Given the description of an element on the screen output the (x, y) to click on. 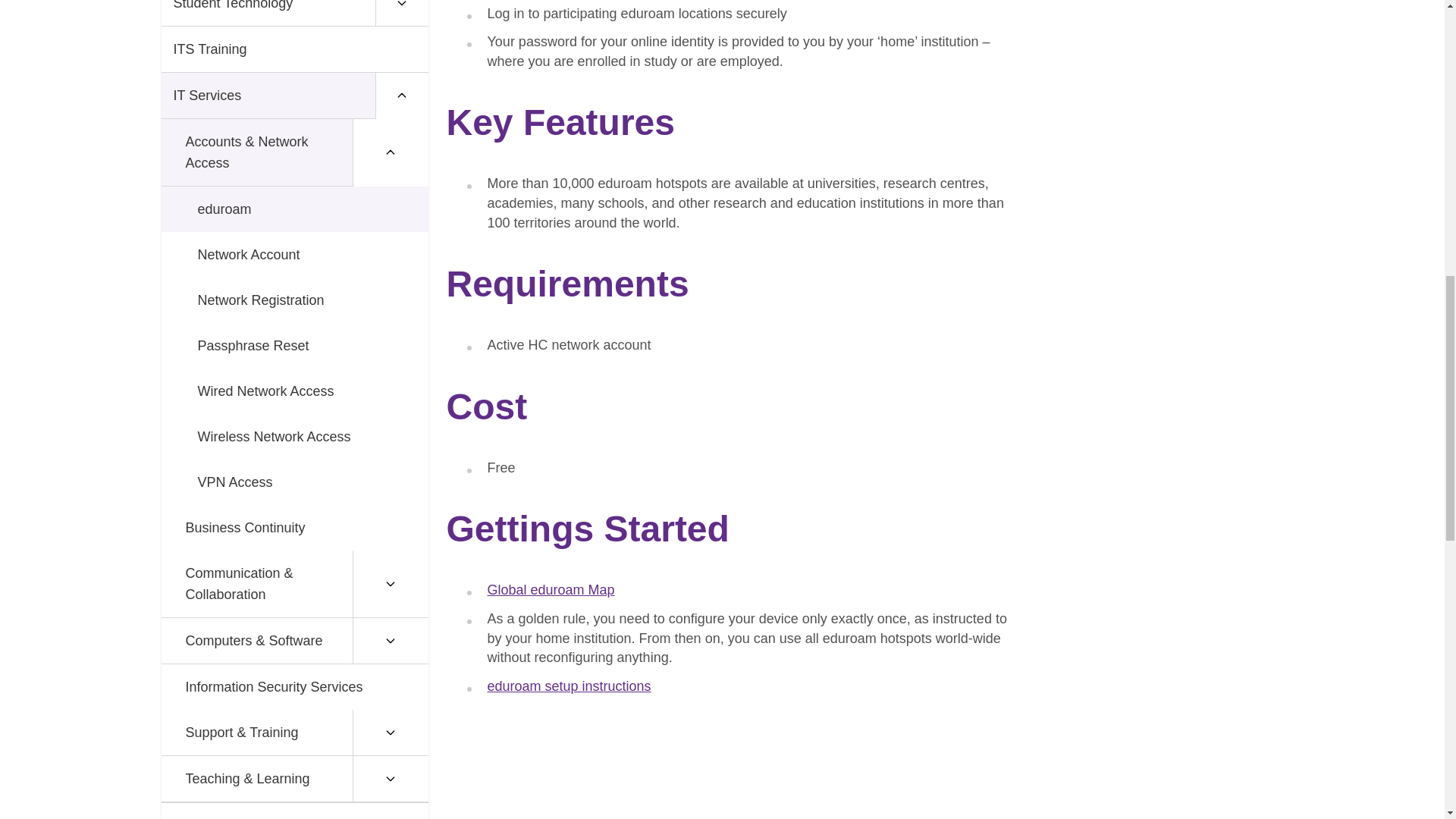
Expand (401, 13)
